Given the description of an element on the screen output the (x, y) to click on. 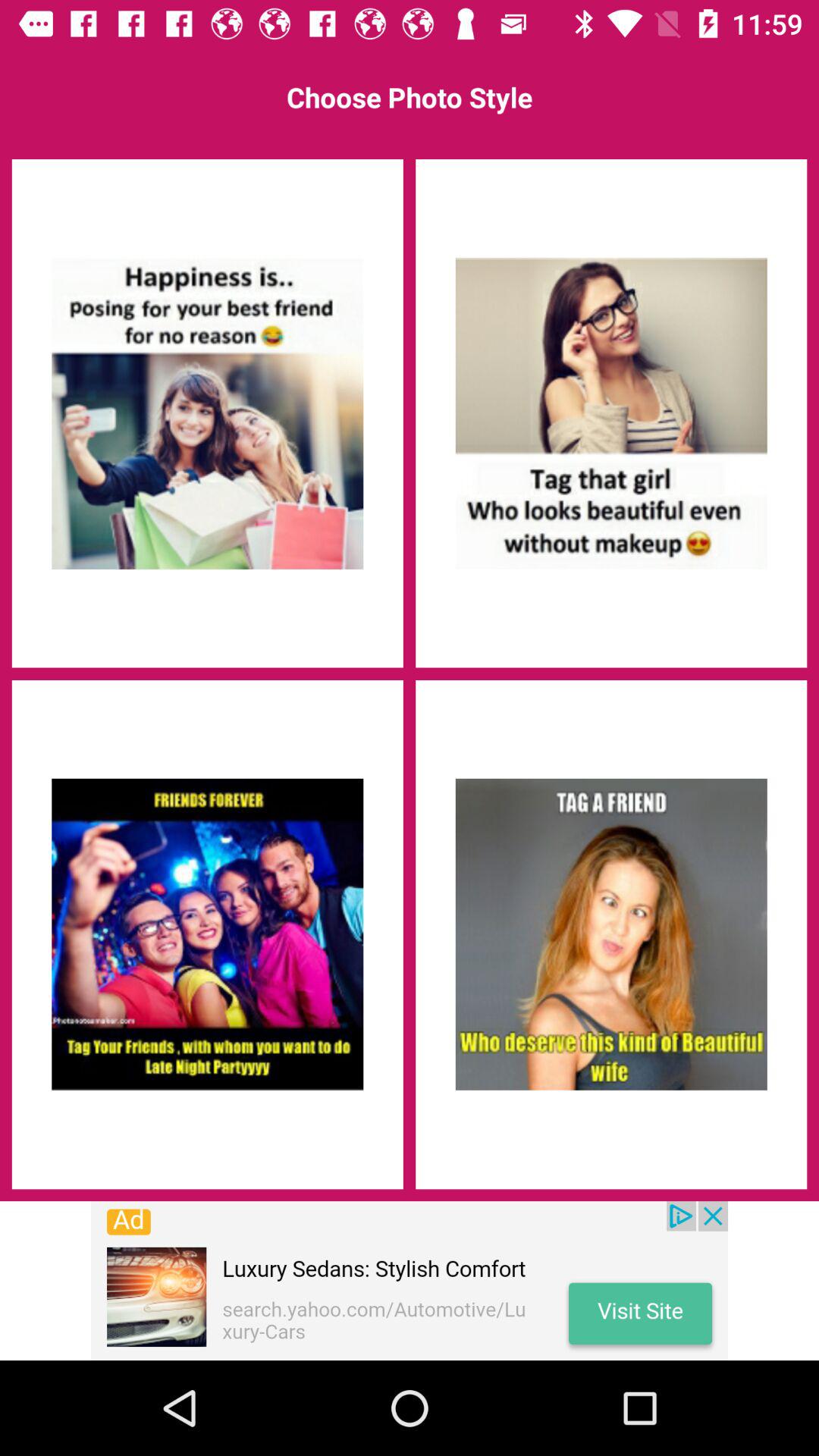
choose top and bottom text photo style (611, 934)
